Given the description of an element on the screen output the (x, y) to click on. 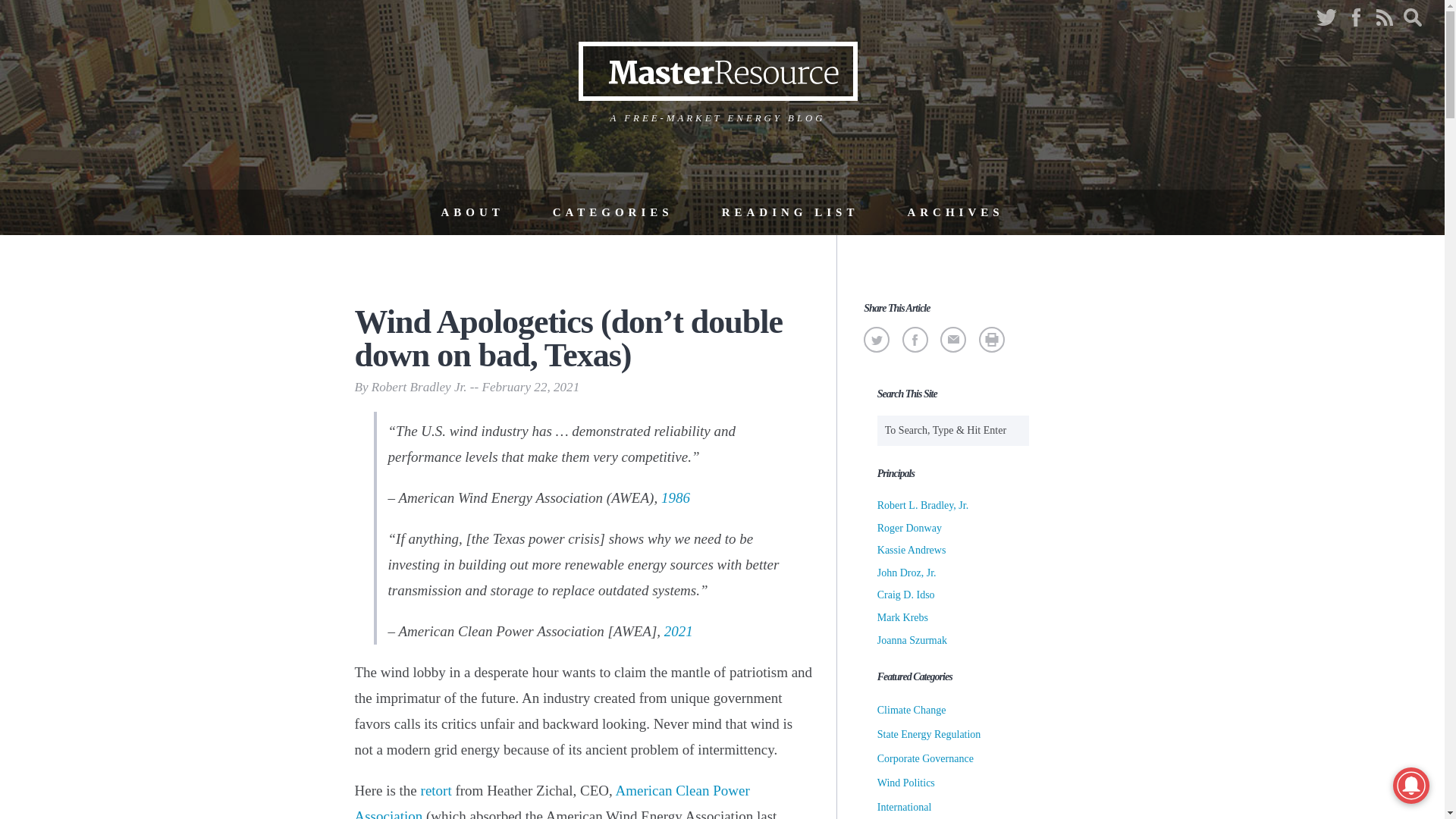
1986 (675, 497)
John Droz, Jr. (906, 572)
CATEGORIES (612, 212)
Print Friendly (991, 339)
retort (433, 790)
READING LIST (790, 212)
Roger Donway (909, 527)
Robert L. Bradley, Jr. (922, 505)
Kassie Andrews (911, 550)
Joanna Szurmak (912, 640)
American Clean Power Association (552, 800)
ARCHIVES (954, 212)
Mark Krebs (902, 617)
2021 (678, 631)
ABOUT (471, 212)
